Given the description of an element on the screen output the (x, y) to click on. 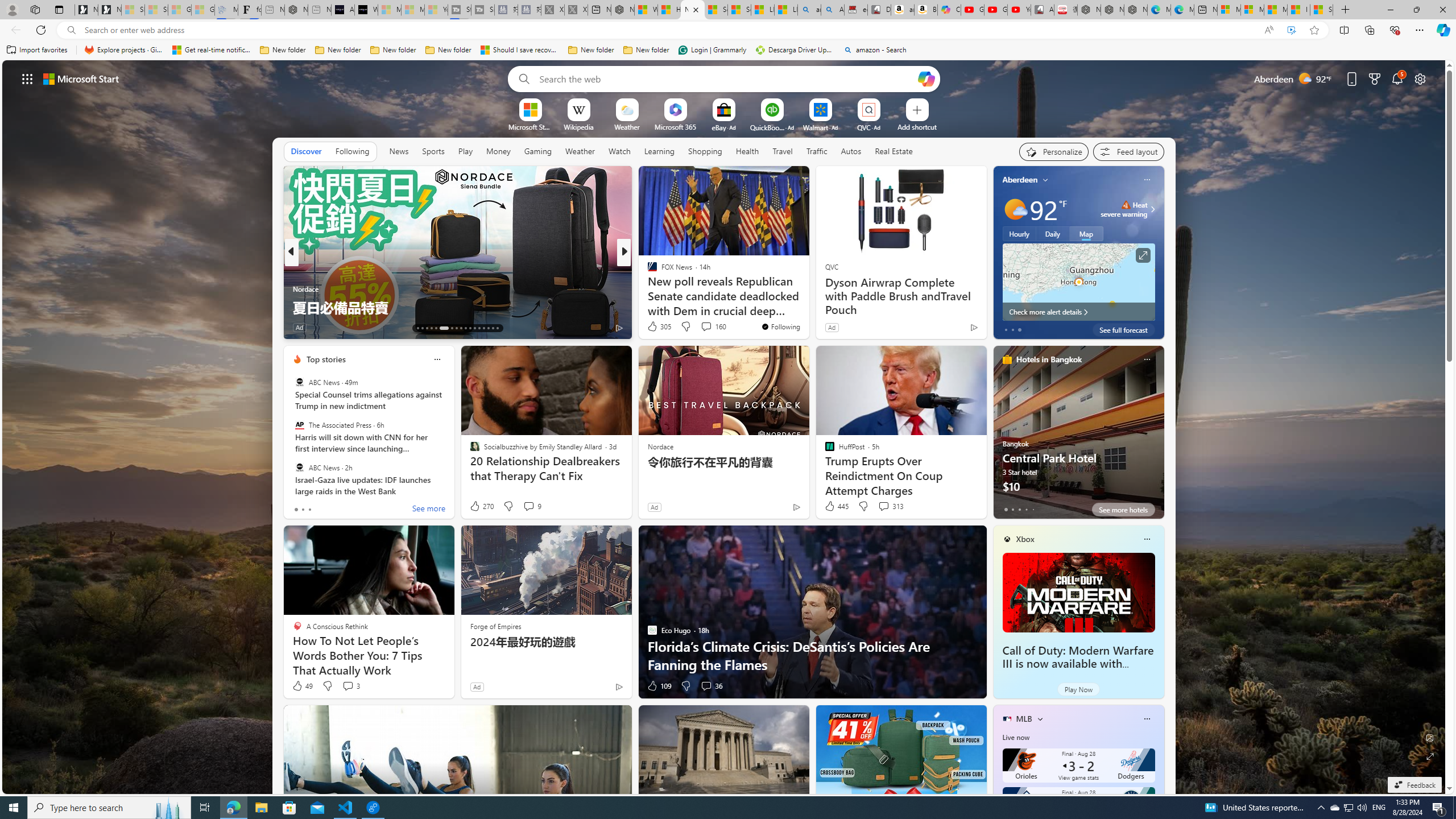
AutomationID: tab-17 (435, 328)
Start the conversation (703, 327)
Class: icon-img (1146, 718)
QVC (831, 266)
AutomationID: tab-15 (426, 328)
AutomationID: tab-14 (422, 328)
Click to see more information (1142, 255)
View comments 5 Comment (702, 327)
View comments 3 Comment (347, 685)
Address and search bar (669, 29)
Money (498, 151)
